Given the description of an element on the screen output the (x, y) to click on. 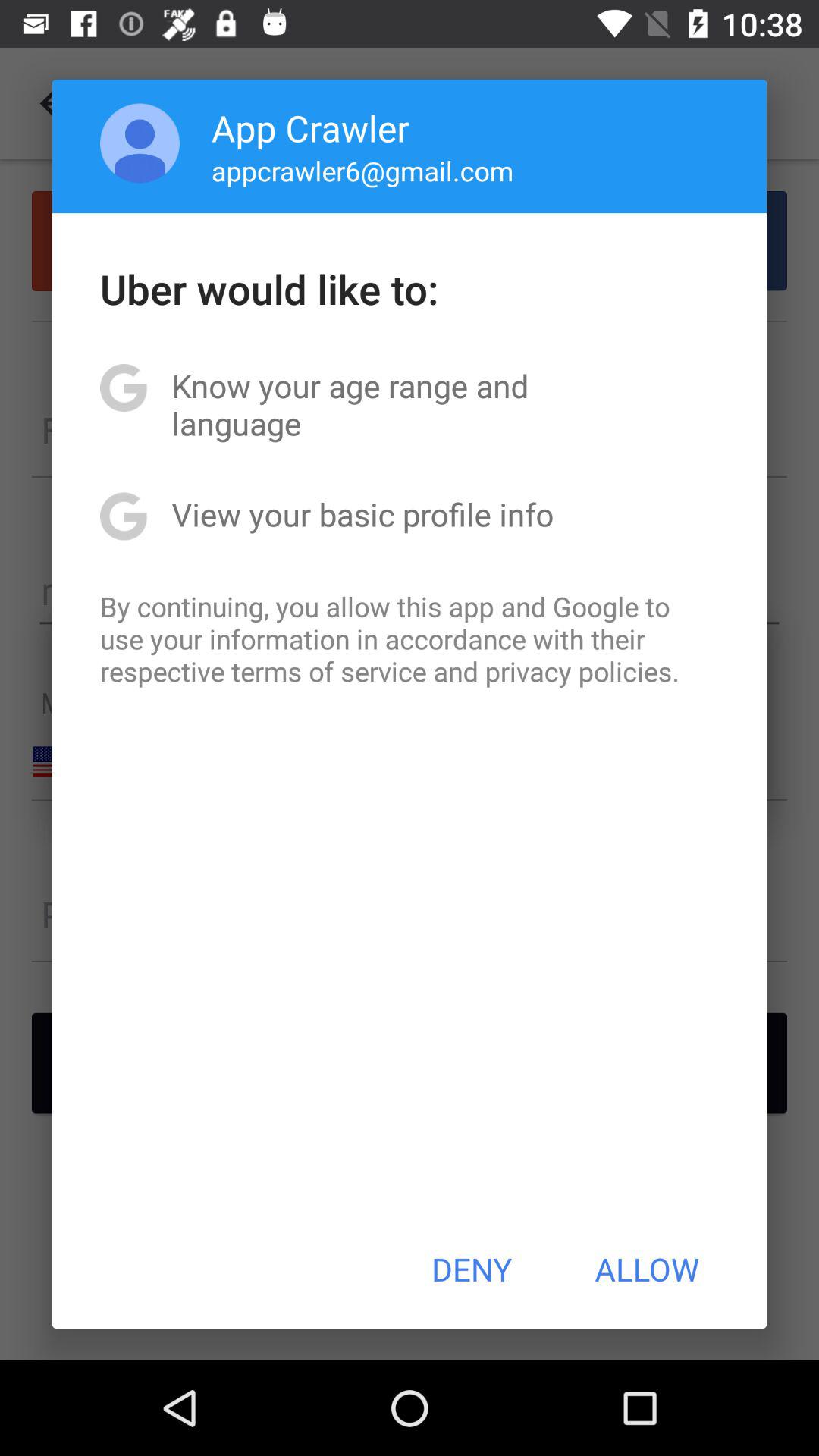
press item above the appcrawler6@gmail.com (310, 127)
